Given the description of an element on the screen output the (x, y) to click on. 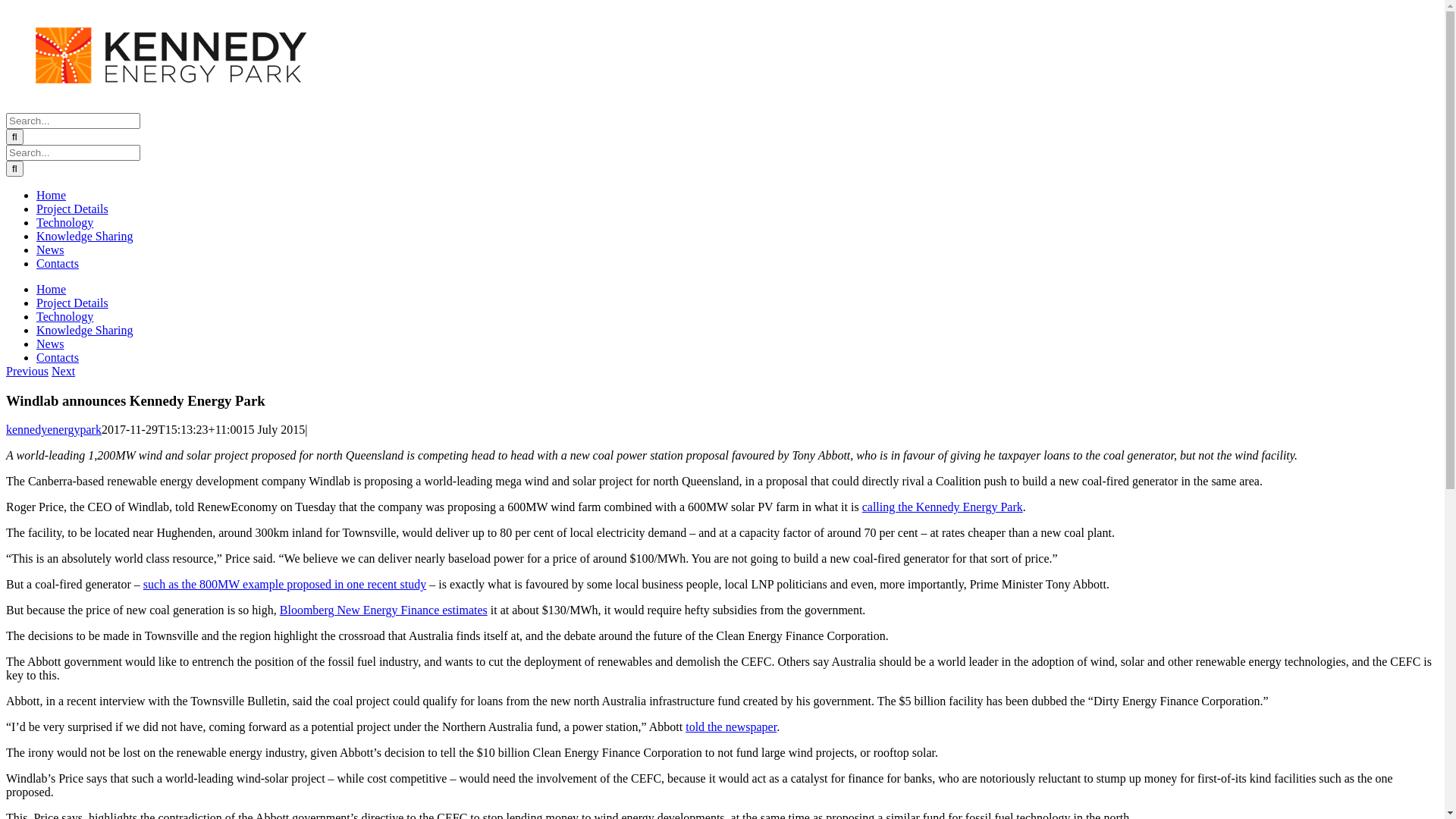
Skip to content Element type: text (5, 5)
Next Element type: text (63, 370)
such as the 800MW example proposed in one recent study Element type: text (284, 583)
News Element type: text (49, 249)
told the newspaper Element type: text (730, 726)
Technology Element type: text (64, 222)
kennedyenergypark Element type: text (53, 429)
Project Details Element type: text (72, 208)
Contacts Element type: text (57, 357)
Bloomberg New Energy Finance estimates Element type: text (383, 609)
Contacts Element type: text (57, 263)
calling the Kennedy Energy Park Element type: text (942, 506)
Technology Element type: text (64, 316)
Home Element type: text (50, 288)
News Element type: text (49, 343)
Project Details Element type: text (72, 302)
Knowledge Sharing Element type: text (84, 329)
Knowledge Sharing Element type: text (84, 235)
Home Element type: text (50, 194)
Previous Element type: text (27, 370)
